Given the description of an element on the screen output the (x, y) to click on. 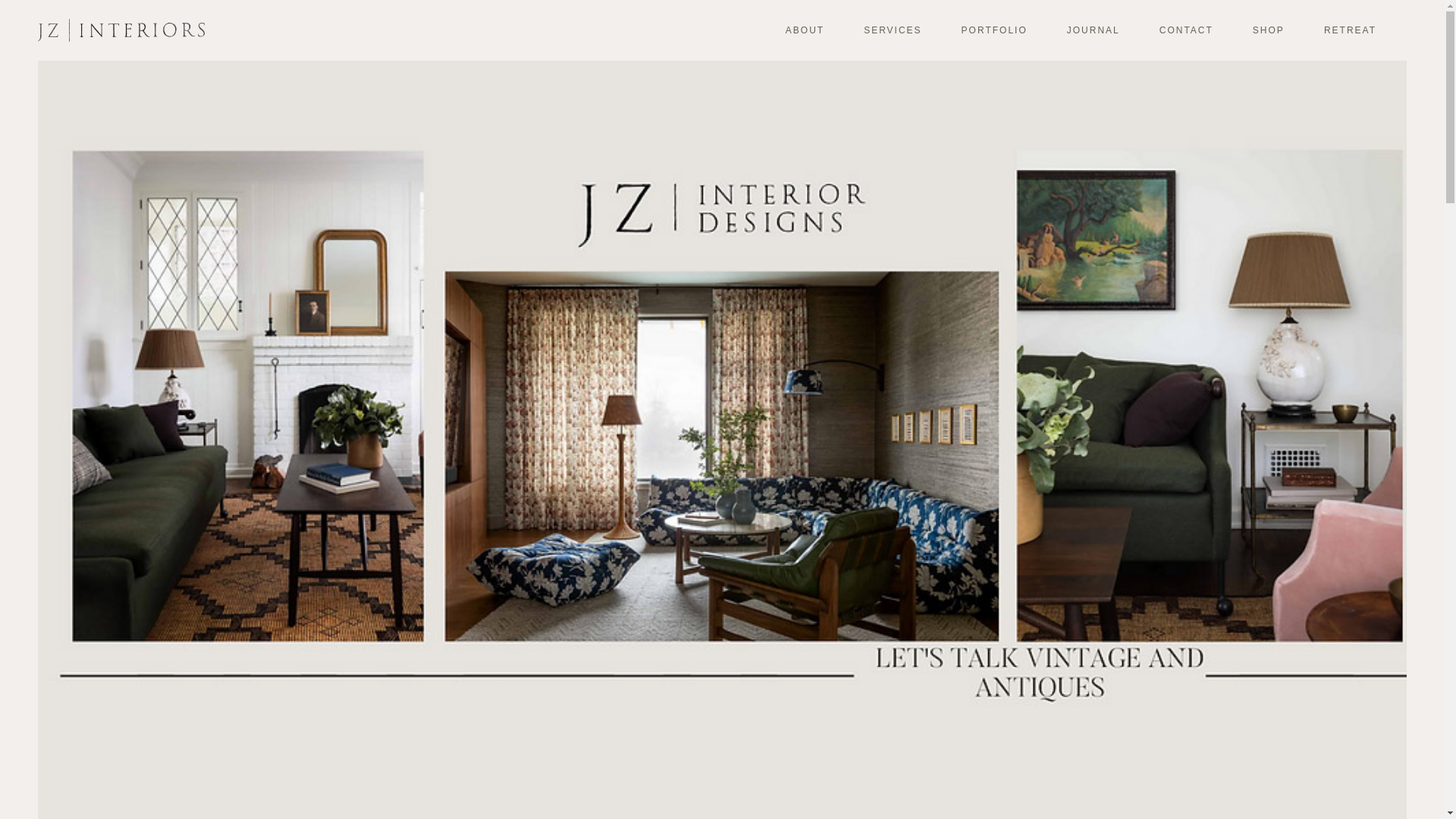
CONTACT (1196, 30)
PORTFOLIO (1005, 30)
ABOUT (815, 30)
SHOP (1278, 30)
RETREAT (1360, 30)
SERVICES (903, 30)
JOURNAL (1104, 30)
